Given the description of an element on the screen output the (x, y) to click on. 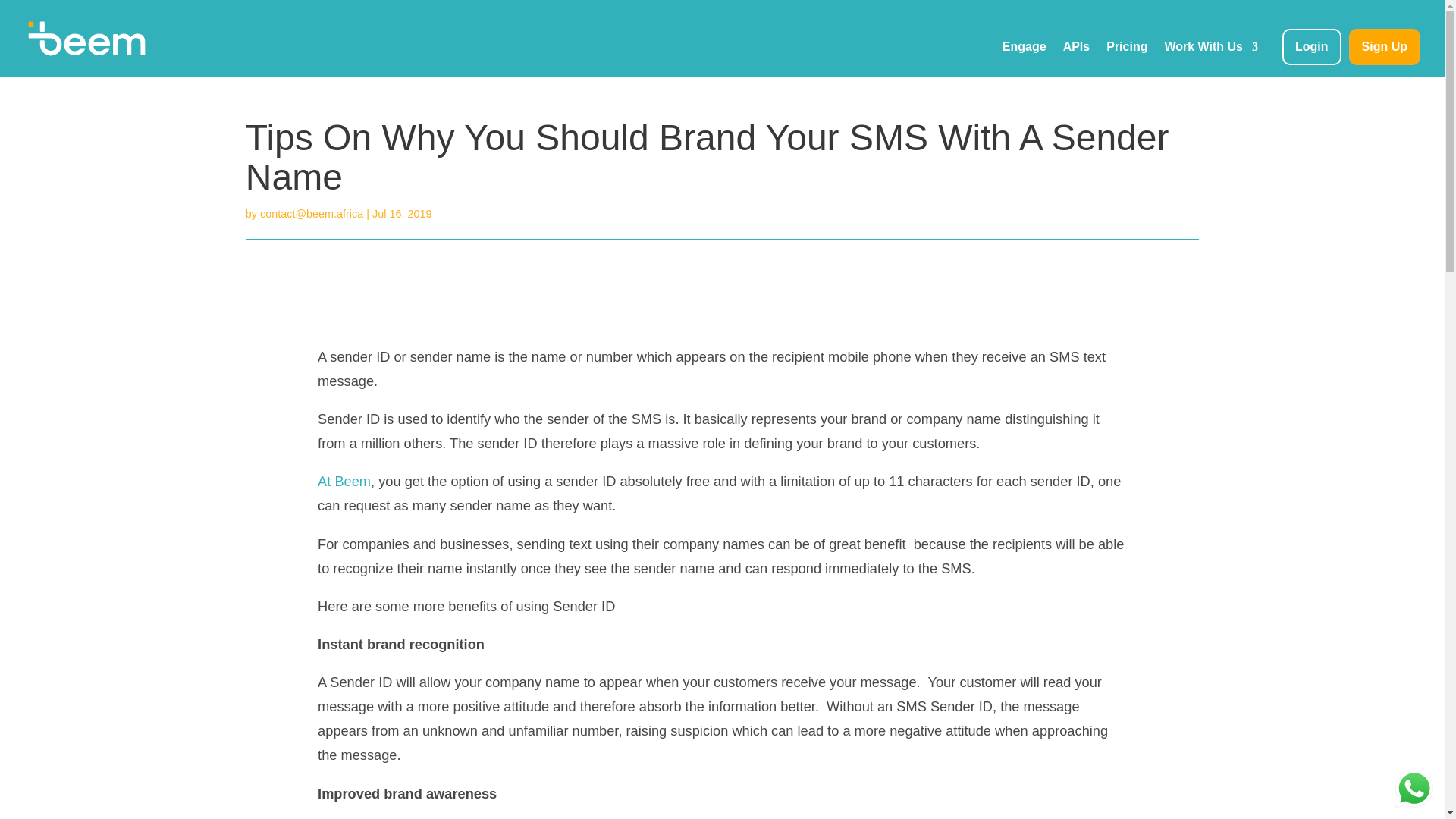
Work With Us (1210, 58)
WhatsApp us (1413, 788)
Engage (1024, 58)
Sign Up (1384, 46)
Login (1311, 46)
At Beem (344, 480)
Pricing (1126, 58)
